Given the description of an element on the screen output the (x, y) to click on. 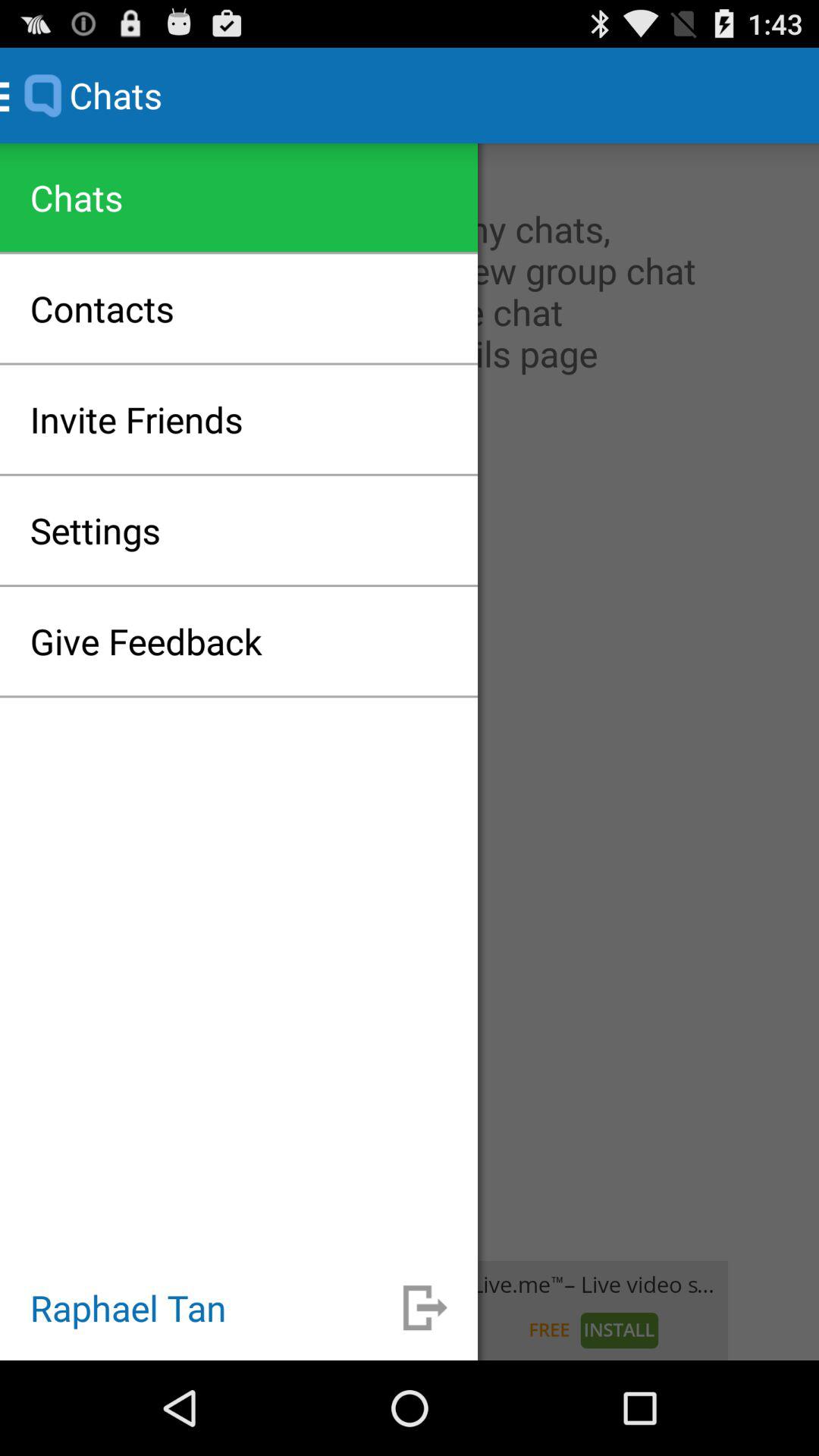
minimize menu (425, 1307)
